Given the description of an element on the screen output the (x, y) to click on. 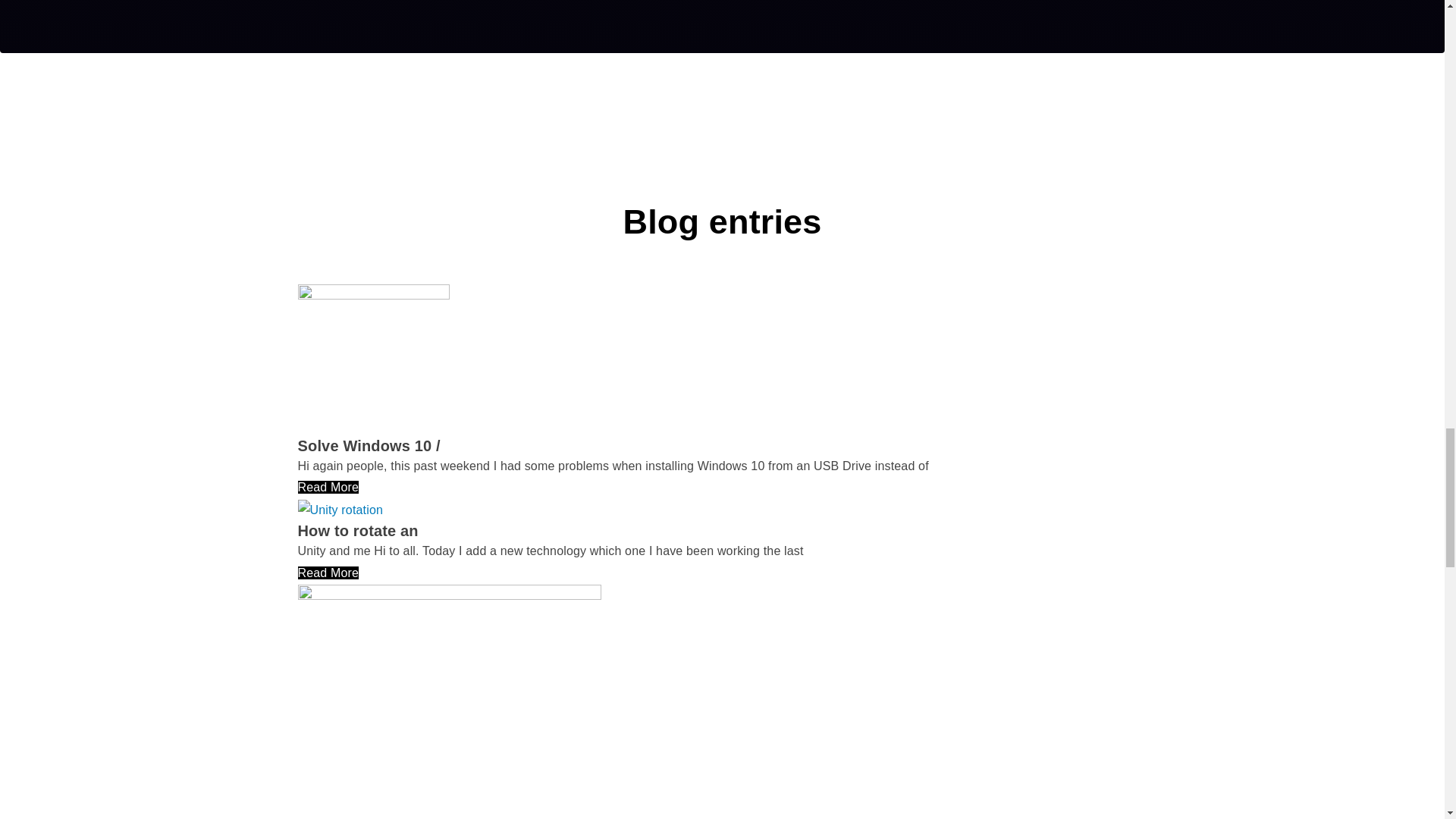
Read More (327, 572)
How to rotate an (357, 530)
Read More (327, 486)
